Given the description of an element on the screen output the (x, y) to click on. 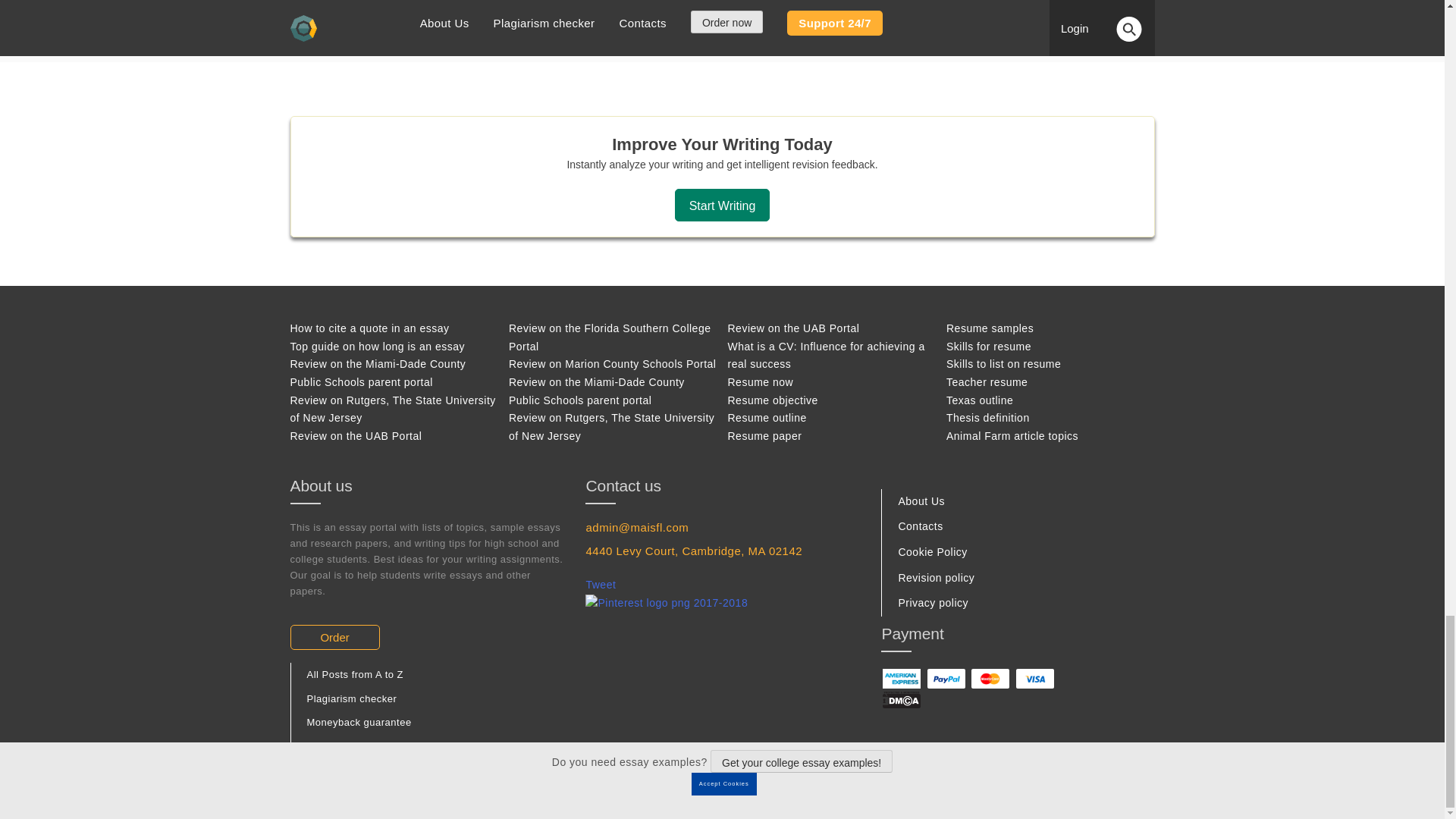
Content Protection by DMCA.com (900, 698)
